Given the description of an element on the screen output the (x, y) to click on. 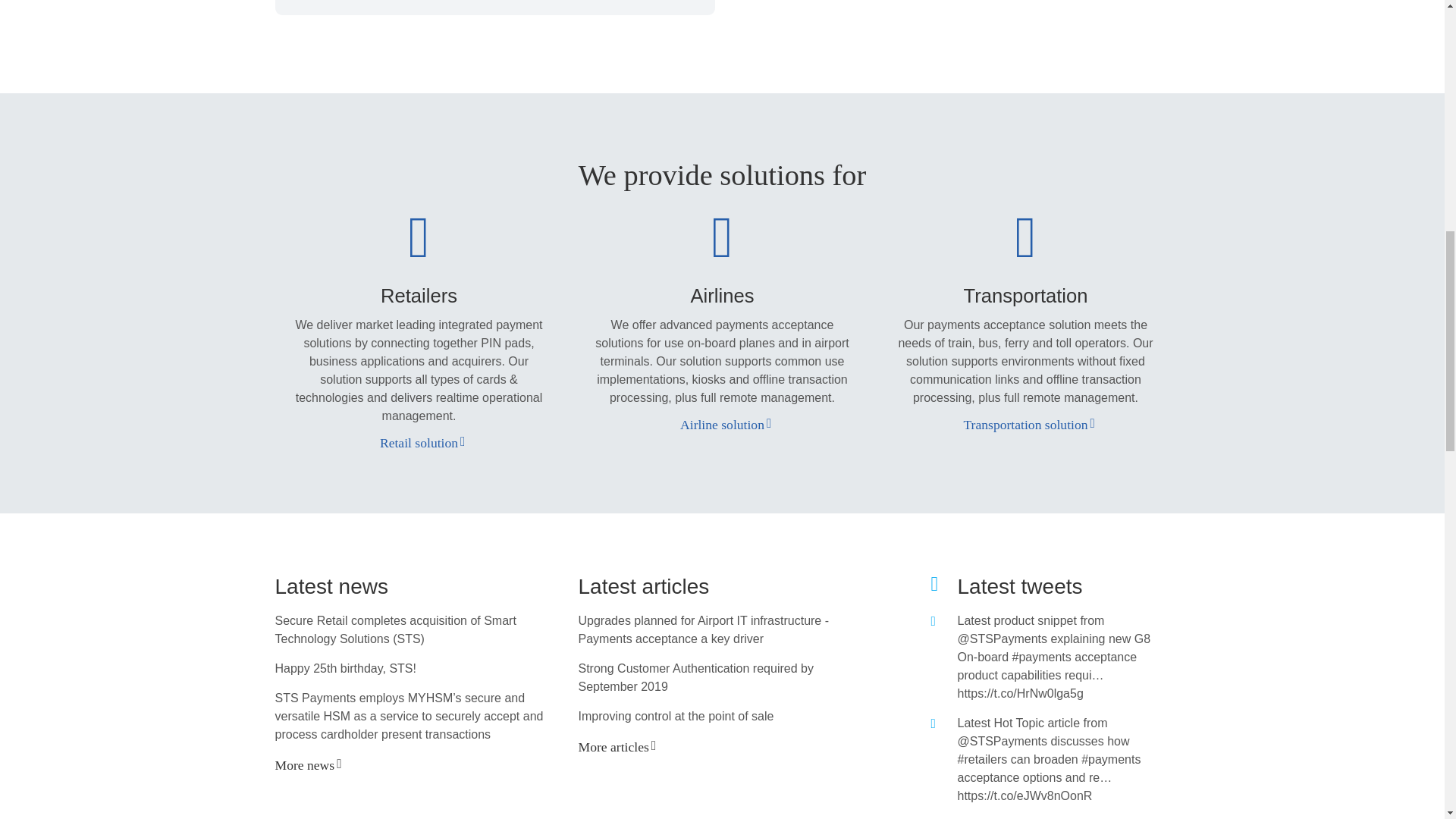
contact us (862, 1)
Strong Customer Authentication required by September 2019 (695, 676)
Happy 25th birthday, STS! (344, 667)
Transportation solution (1024, 424)
Retail solution (419, 442)
More news (304, 765)
Airline solution (721, 424)
diagram (494, 7)
